Given the description of an element on the screen output the (x, y) to click on. 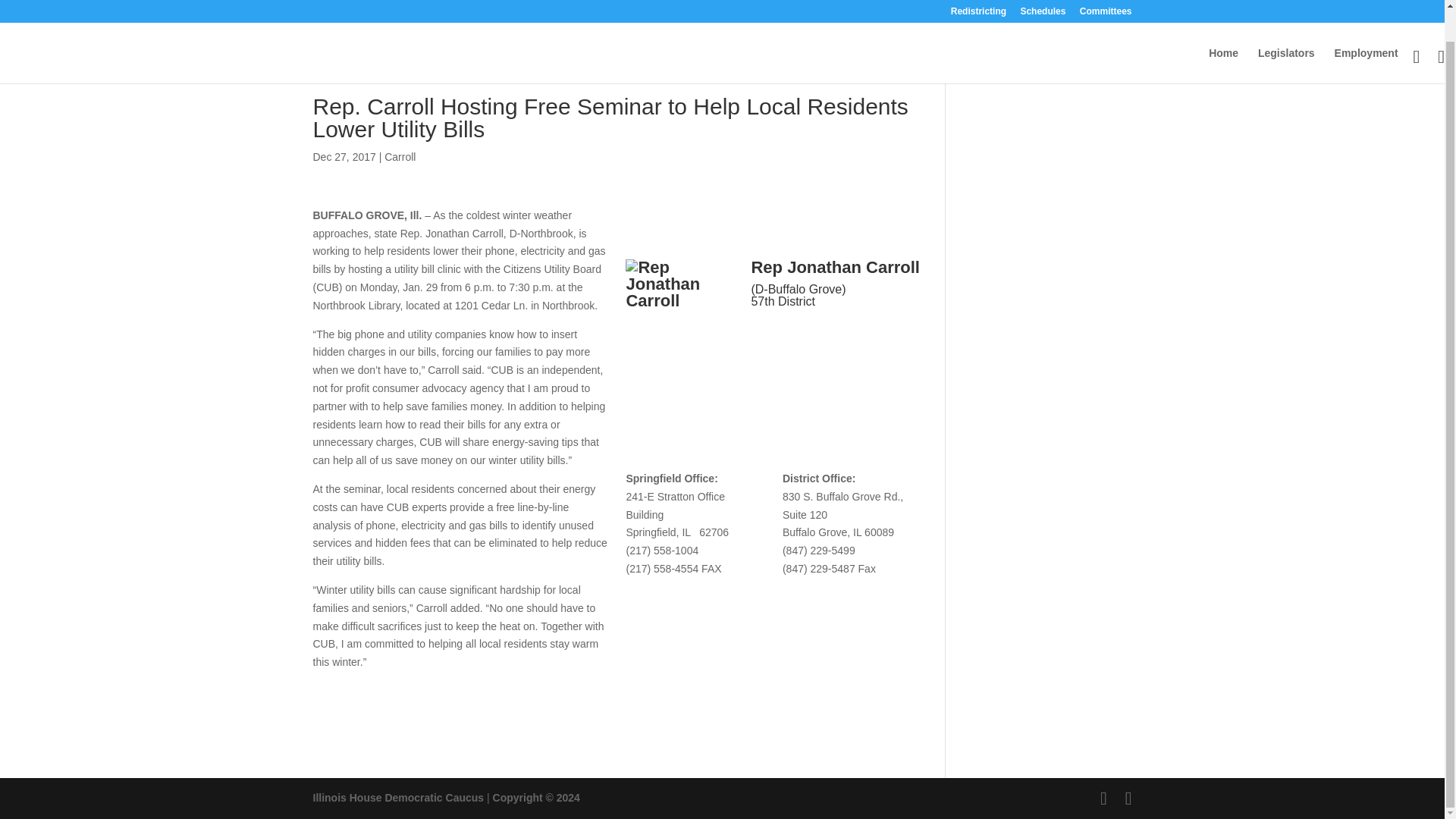
Carroll (399, 156)
Follow on Twitter (792, 336)
Employment (1366, 32)
IL House Democrats (398, 797)
Follow on Facebook (762, 336)
Home (1223, 32)
Illinois House Democratic Caucus (398, 797)
Legislators (1285, 32)
Follow on Instagram (822, 336)
